Given the description of an element on the screen output the (x, y) to click on. 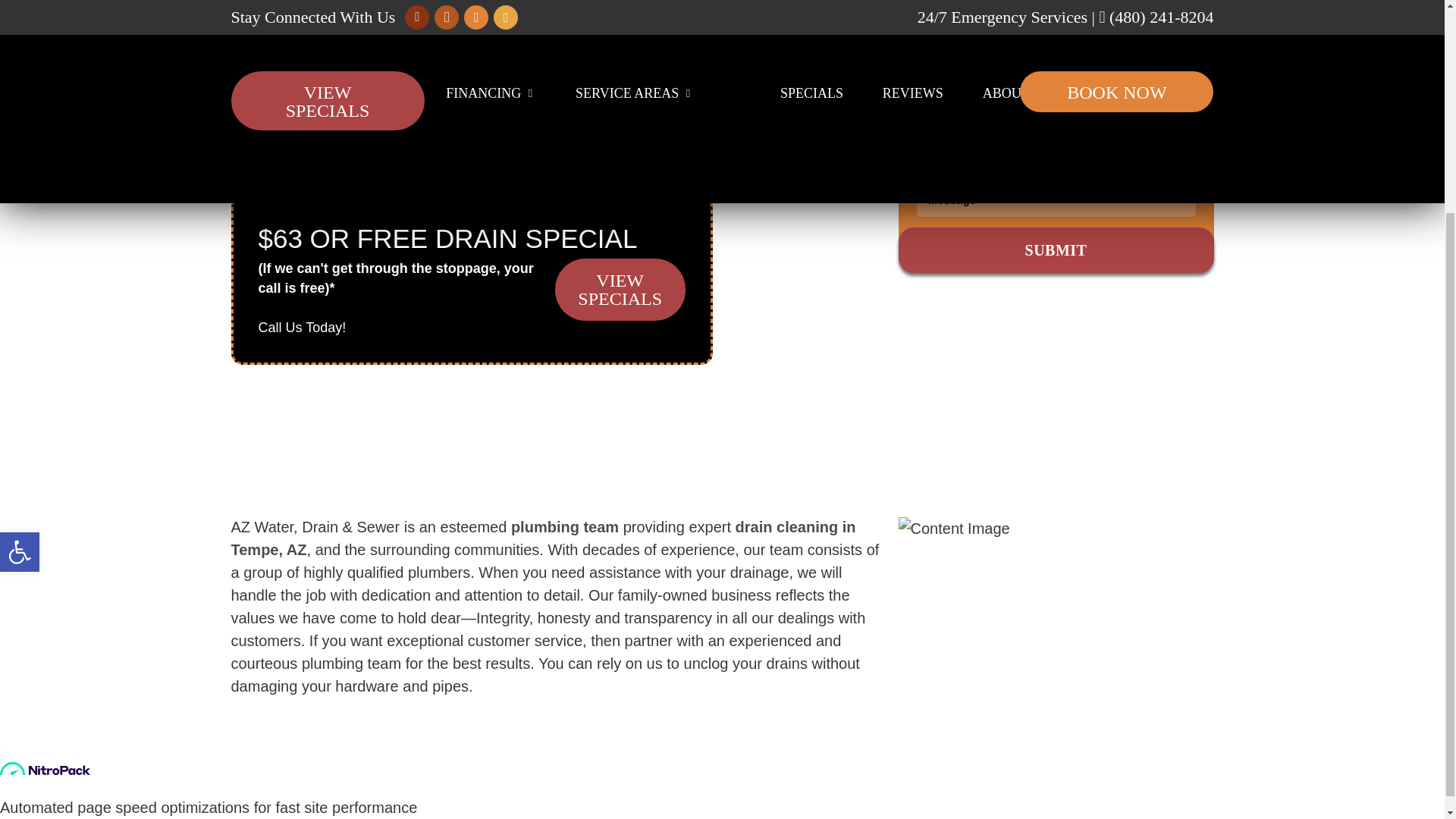
Accessibility Tools (19, 267)
Submit (1056, 249)
Accessibility Tools (19, 267)
